Given the description of an element on the screen output the (x, y) to click on. 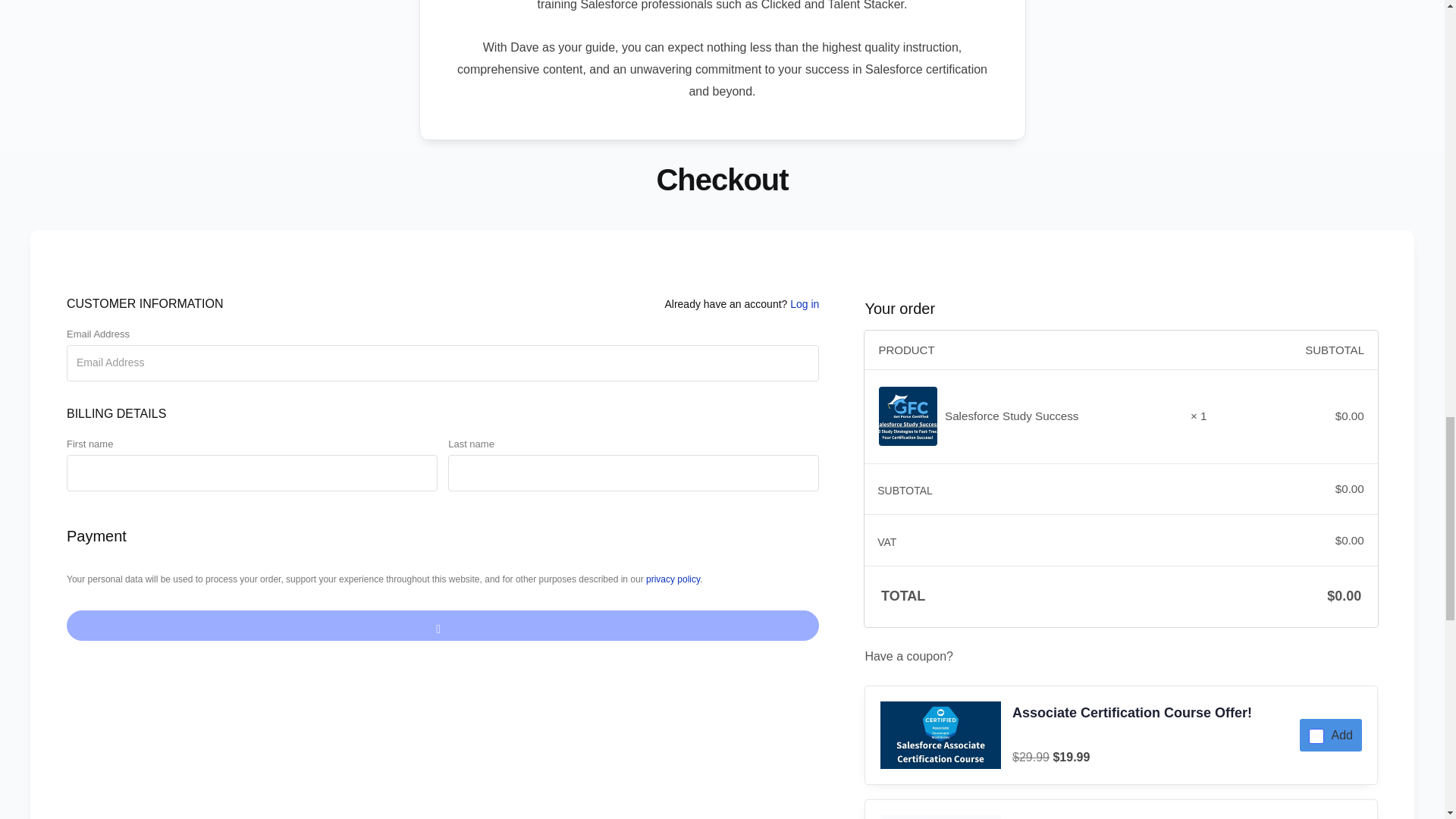
Have a coupon? (1120, 656)
Log in (804, 304)
Study Success Product Image - Get Force Certified (908, 415)
privacy policy (673, 579)
